Given the description of an element on the screen output the (x, y) to click on. 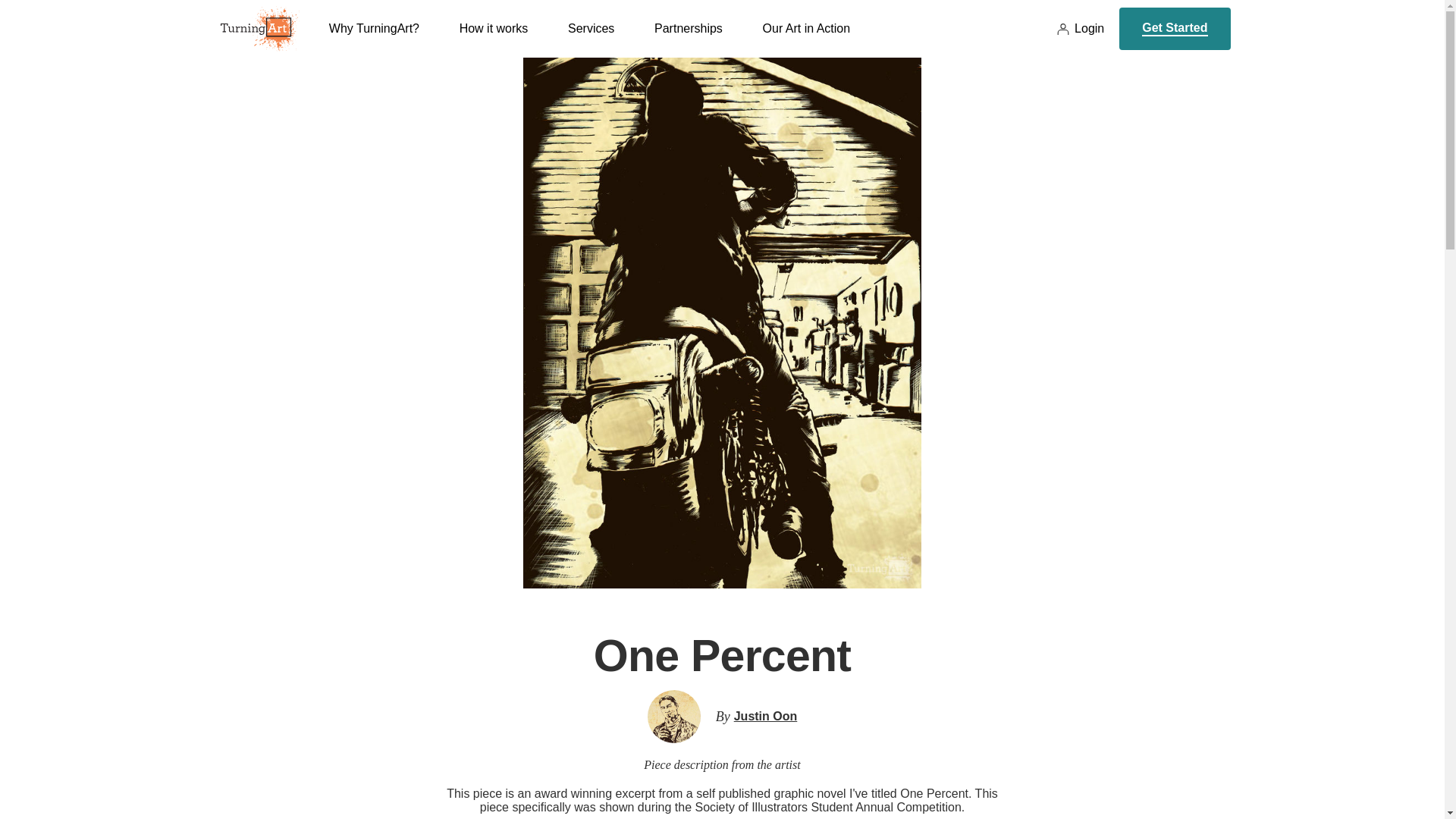
Our Art in Action (806, 38)
Justin Oon (765, 716)
Partnerships (687, 38)
Get Started (1174, 28)
Services (590, 38)
How it works (494, 38)
Login (1080, 28)
Why TurningArt? (374, 38)
